Given the description of an element on the screen output the (x, y) to click on. 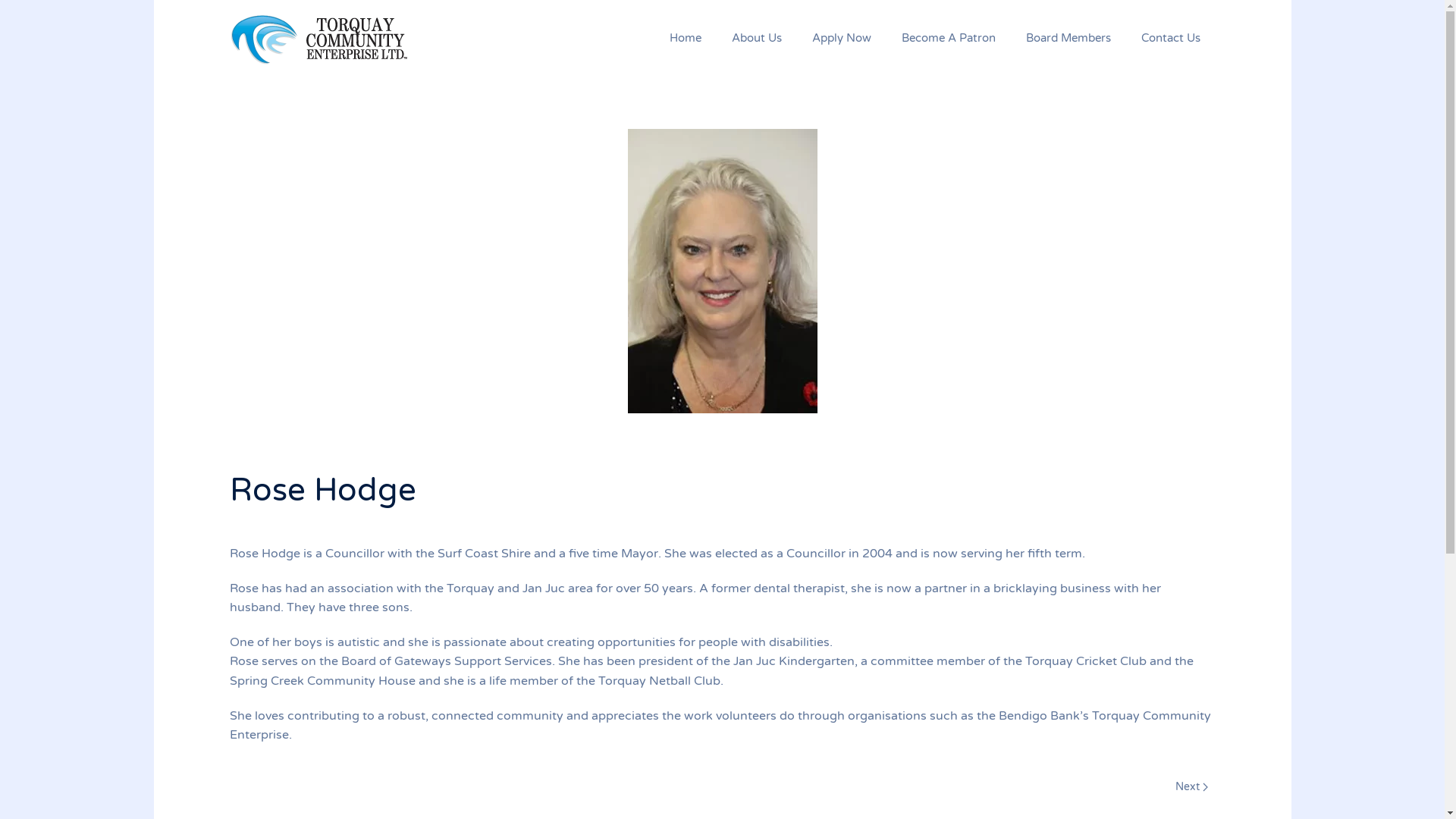
Board Members Element type: text (1067, 37)
Home Element type: text (684, 37)
Become A Patron Element type: text (947, 37)
Contact Us Element type: text (1169, 37)
Next Element type: text (1191, 786)
About Us Element type: text (755, 37)
Apply Now Element type: text (840, 37)
